Given the description of an element on the screen output the (x, y) to click on. 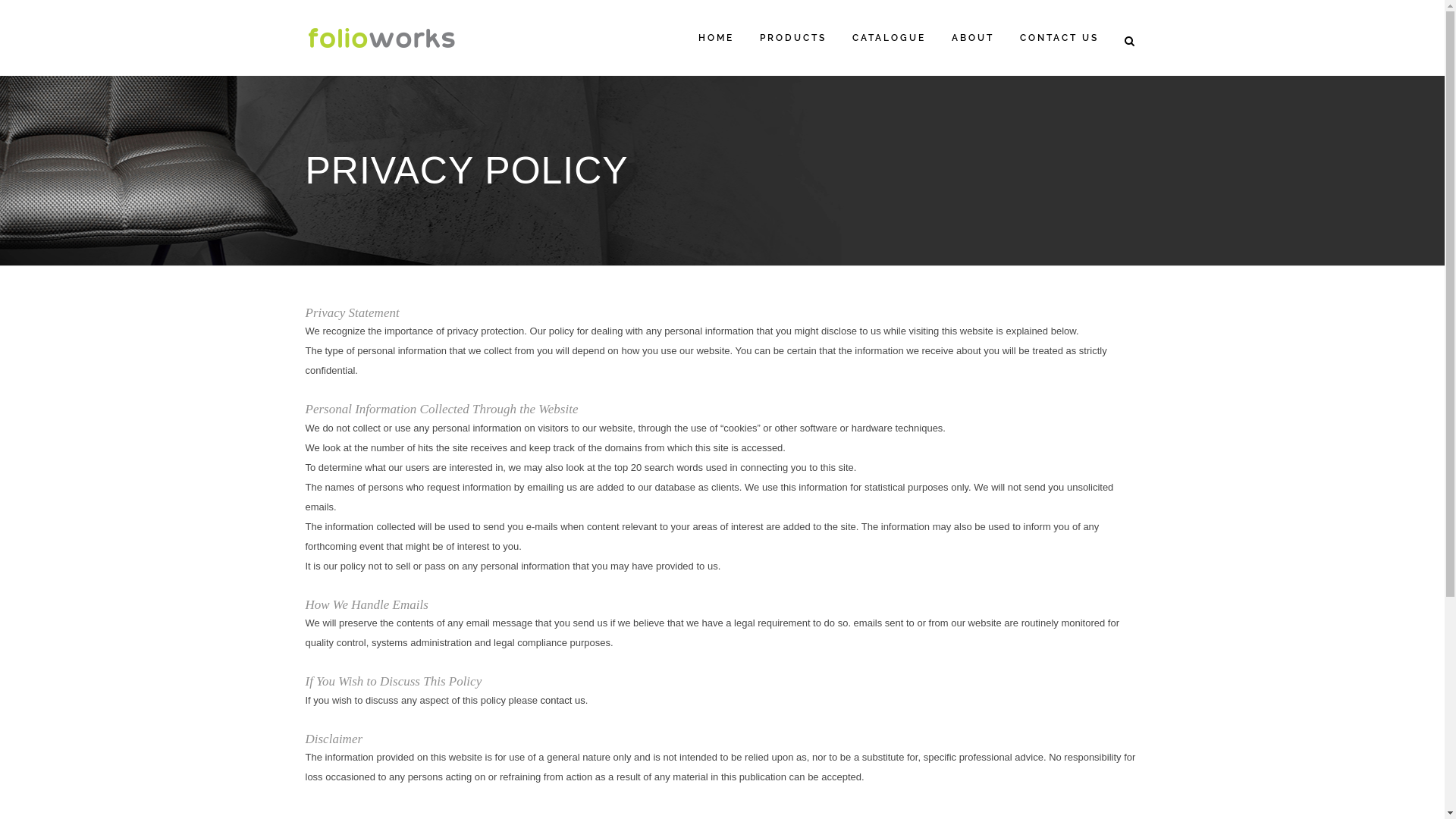
Environmental Sustainability Policy Element type: text (605, 689)
CONTACT US Element type: text (1059, 37)
CATALOGUE Element type: text (888, 37)
ABOUT Element type: text (972, 37)
contact us Element type: text (561, 700)
Terms and Conditions Element type: text (576, 659)
Contact Element type: text (546, 718)
Lounge Seating Element type: text (412, 658)
HOME Element type: text (715, 37)
Chairs Element type: text (412, 629)
Tables Element type: text (412, 717)
PRODUCTS Element type: text (792, 37)
Privacy Policy Element type: text (559, 630)
Stools Element type: text (412, 688)
